Given the description of an element on the screen output the (x, y) to click on. 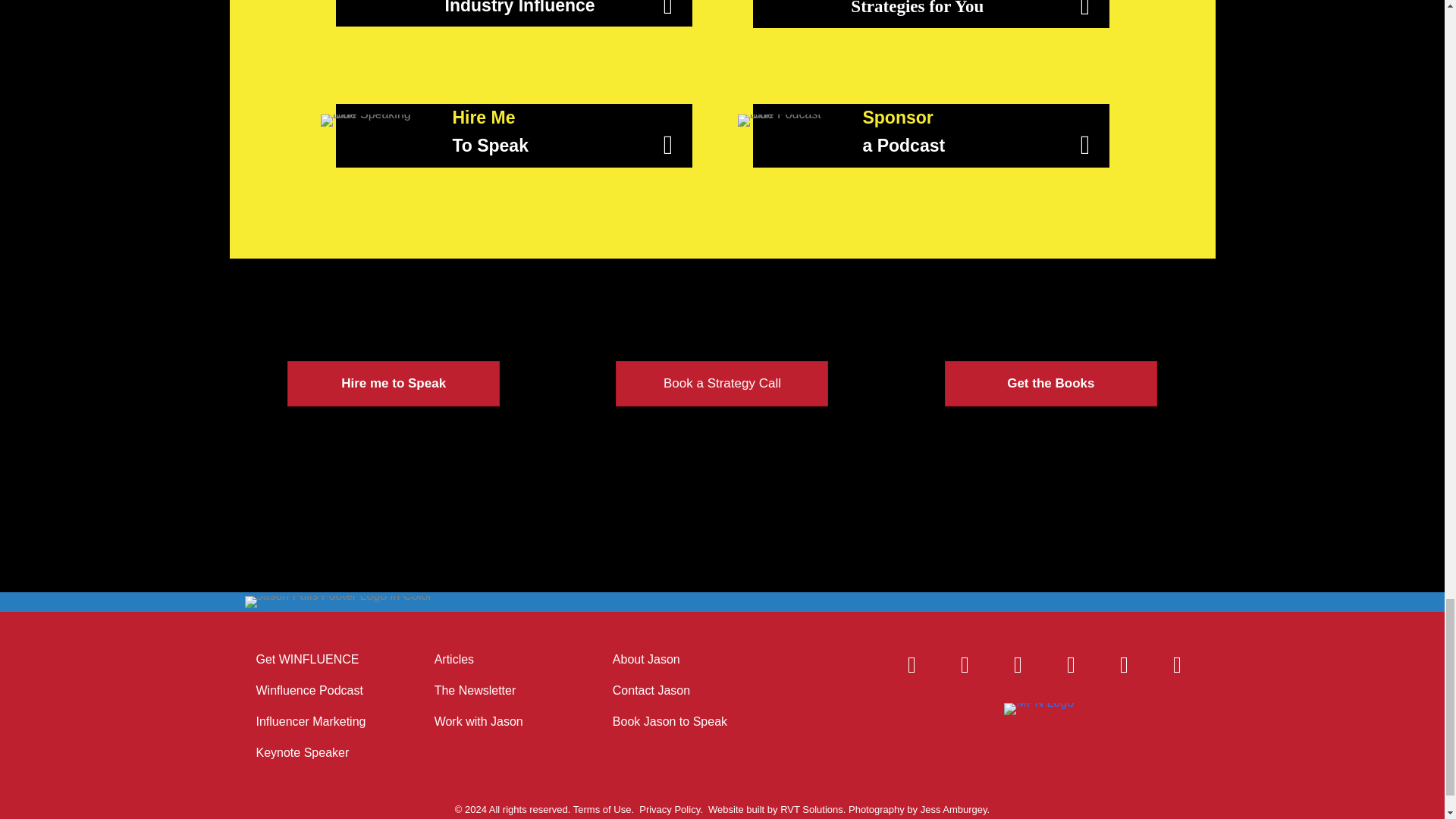
Brand Icon (778, 1)
Keynote Speaker (318, 752)
Winfluence Podcast (318, 690)
Book a Strategy Call (721, 383)
Articles (496, 659)
Podcast Icon (783, 127)
Hire me to Speak (392, 383)
Get WINFLUENCE (318, 659)
Influencer Marketing (318, 721)
Speaking Icon (371, 127)
Industry Icon (366, 0)
Get the Books (1050, 383)
